Given the description of an element on the screen output the (x, y) to click on. 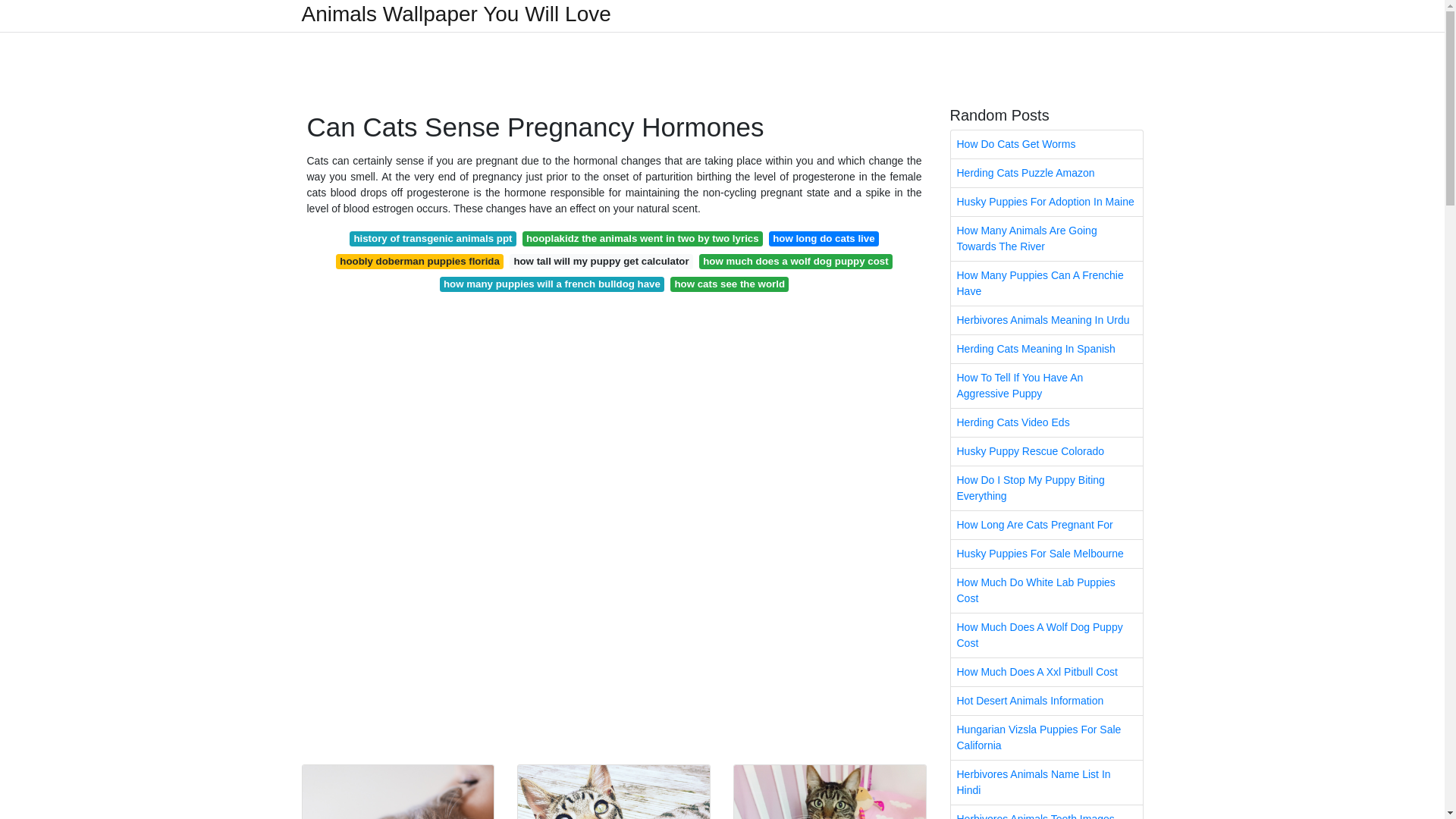
Herbivores Animals Meaning In Urdu (1046, 320)
Animals Wallpaper You Will Love (456, 13)
how long do cats live (823, 238)
How Many Animals Are Going Towards The River (1046, 239)
hoobly doberman puppies florida (419, 261)
Husky Puppy Rescue Colorado (1046, 451)
How Do Cats Get Worms (1046, 144)
Herding Cats Video Eds (1046, 422)
history of transgenic animals ppt (432, 238)
How Many Puppies Can A Frenchie Have (1046, 283)
